Given the description of an element on the screen output the (x, y) to click on. 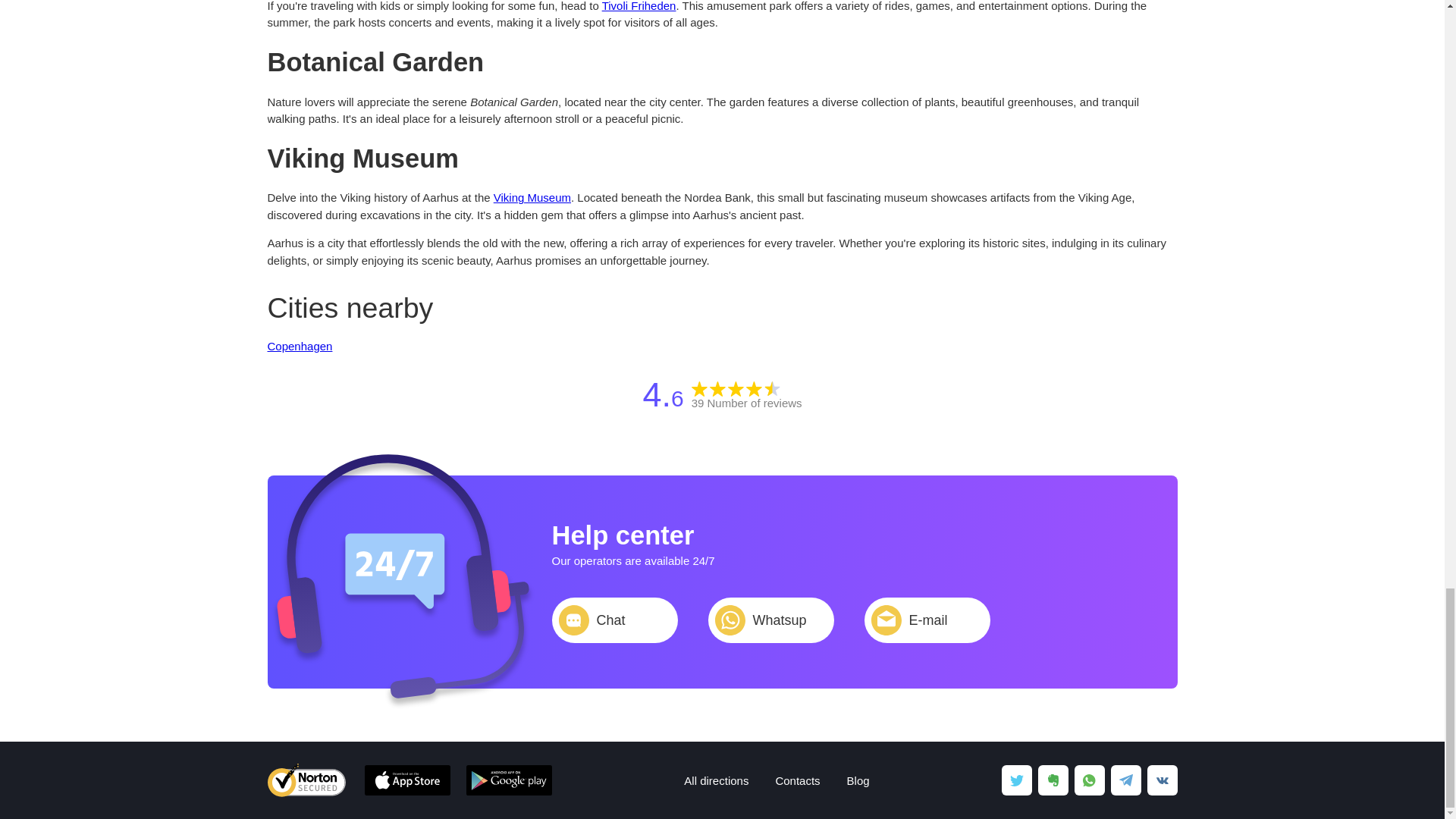
Twitter (1015, 779)
Chat (614, 619)
Telegram (1124, 779)
Tivoli Friheden (639, 6)
Whatsup (770, 619)
WhatsApp (1088, 779)
Evernote (1051, 779)
Copenhagen (298, 345)
Viking Museum (531, 196)
